Given the description of an element on the screen output the (x, y) to click on. 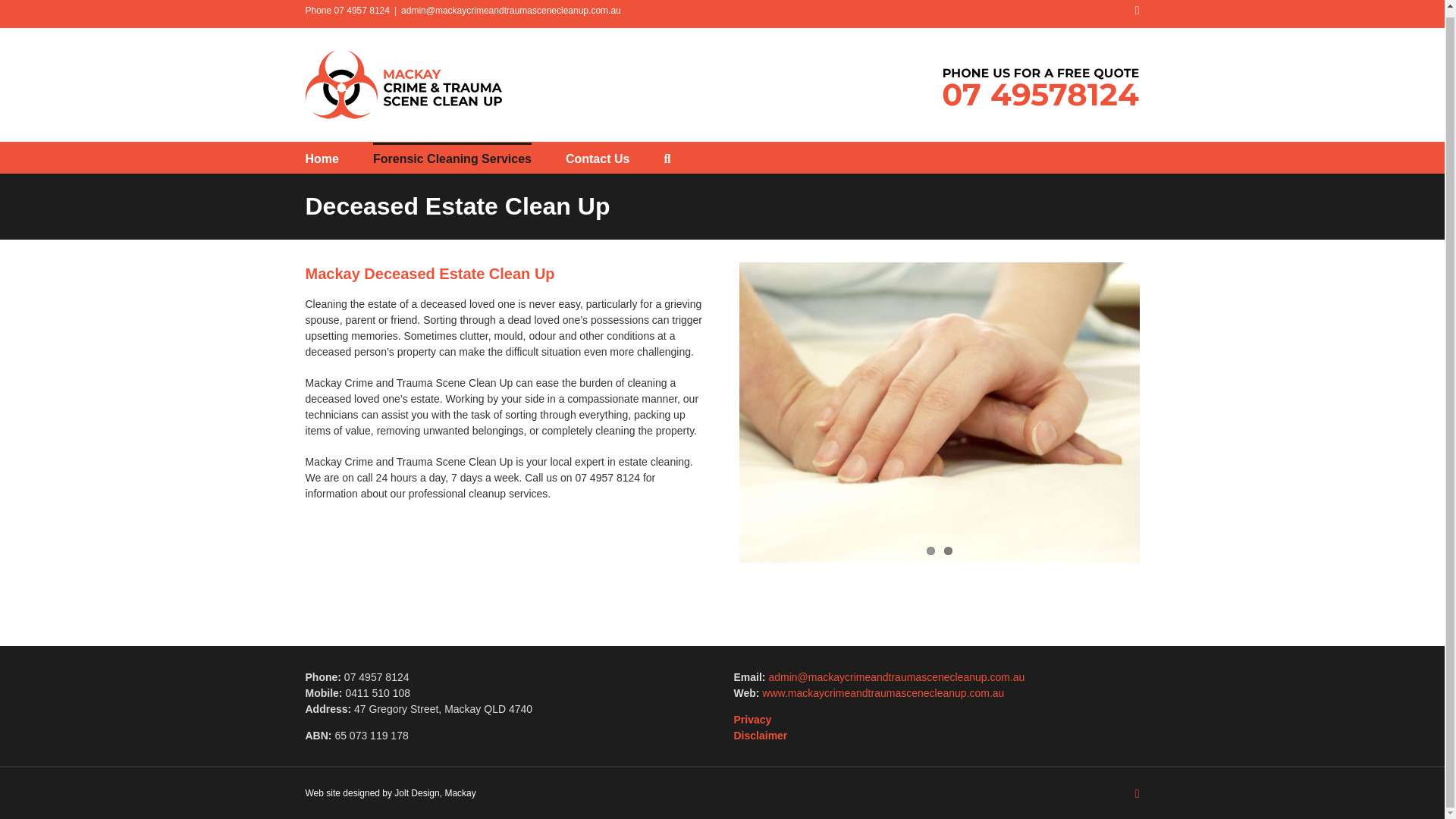
Forensic Cleaning Services (451, 157)
Disclaimer (760, 735)
Privacy (752, 719)
www.mackaycrimeandtraumascenecleanup.com.au (882, 693)
Contact Us (597, 157)
1 (930, 551)
Email (1137, 10)
Home (320, 157)
2 (947, 551)
Search (666, 157)
